Given the description of an element on the screen output the (x, y) to click on. 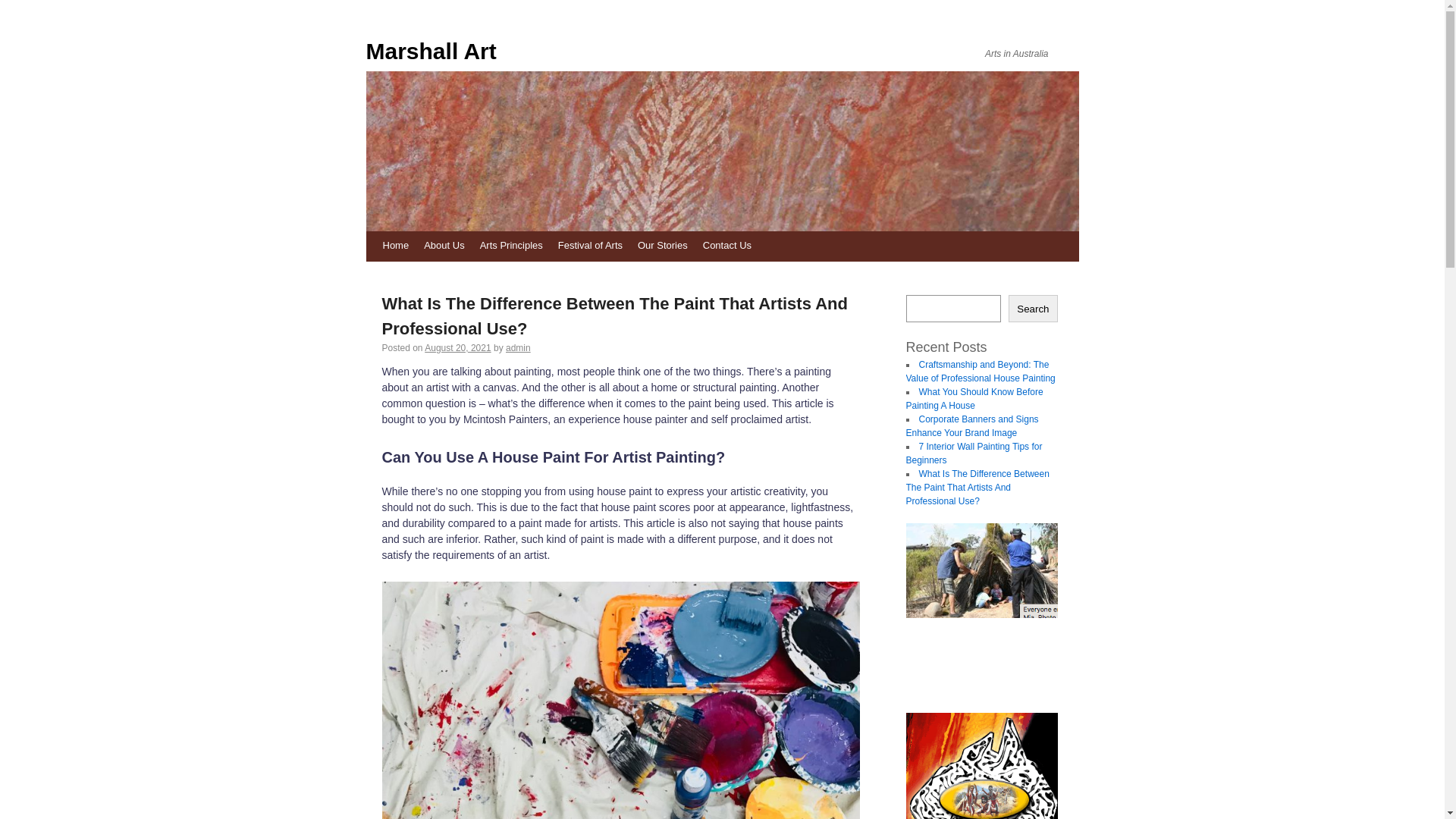
Our Stories Element type: text (662, 245)
Corporate Banners and Signs Enhance Your Brand Image Element type: text (971, 426)
About Us Element type: text (443, 245)
What You Should Know Before Painting A House Element type: text (973, 398)
Home Element type: text (395, 245)
Search Element type: text (1032, 308)
Contact Us Element type: text (727, 245)
admin Element type: text (517, 347)
August 20, 2021 Element type: text (457, 347)
7 Interior Wall Painting Tips for Beginners Element type: text (973, 453)
Arts Principles Element type: text (511, 245)
Festival of Arts Element type: text (590, 245)
Marshall Art Element type: text (535, 51)
